Given the description of an element on the screen output the (x, y) to click on. 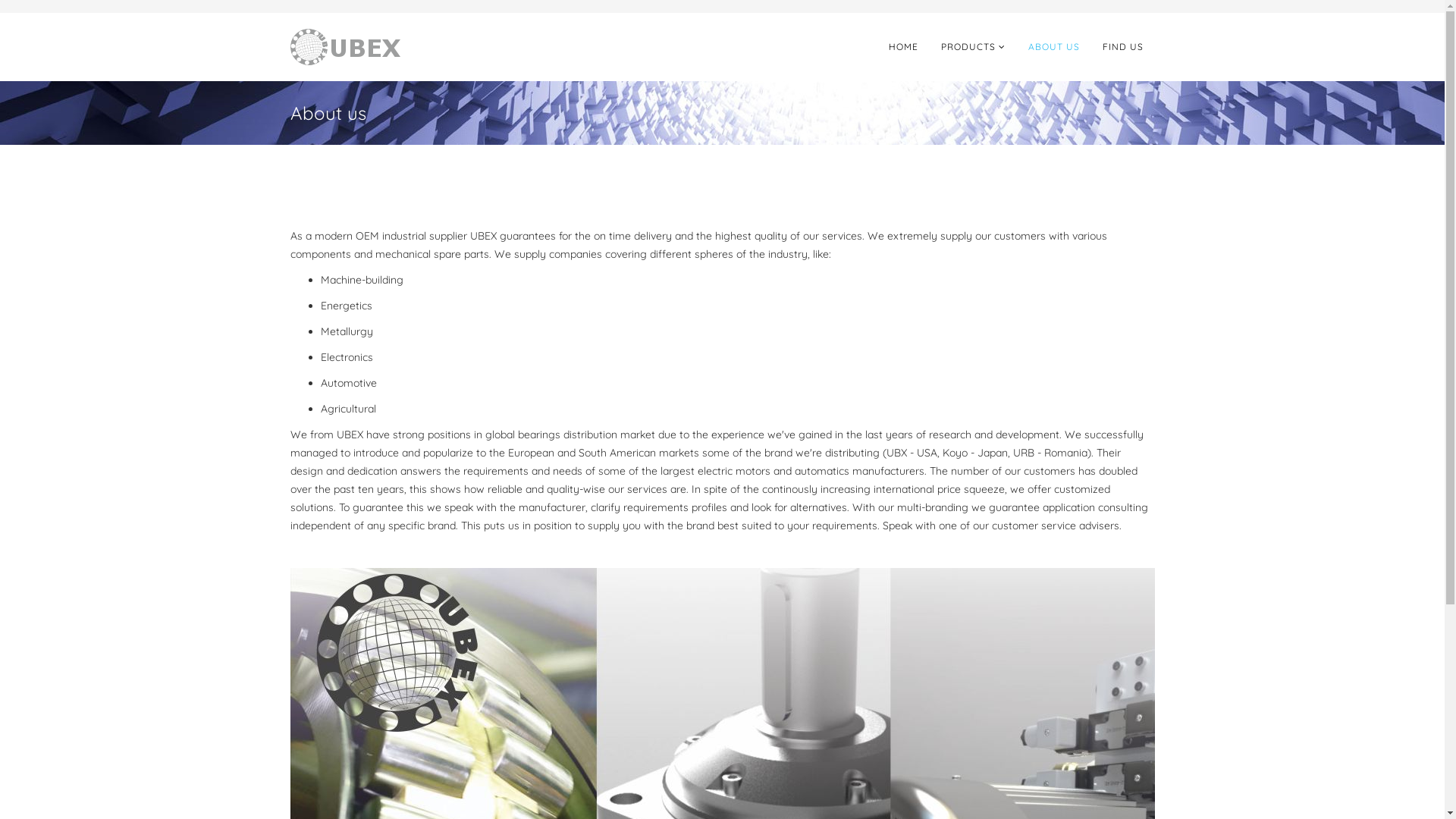
ABOUT US Element type: text (1053, 46)
PRODUCTS Element type: text (972, 46)
HOME Element type: text (902, 46)
FIND US Element type: text (1122, 46)
